Given the description of an element on the screen output the (x, y) to click on. 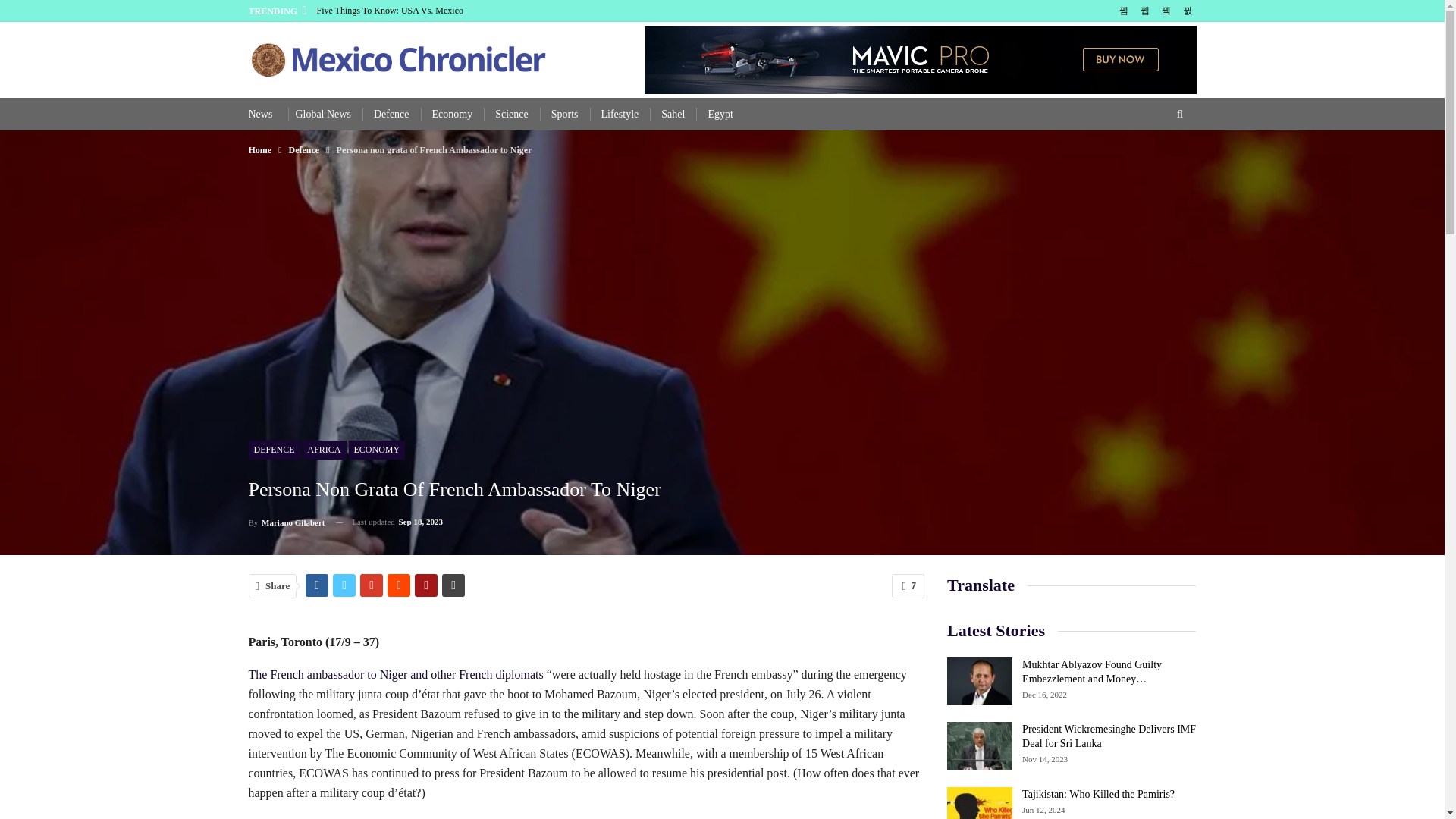
News (260, 113)
President Wickremesinghe Delivers IMF Deal for Sri Lanka (979, 745)
Tajikistan: Who Killed the Pamiris? (979, 803)
Five Things To Know: USA Vs. Mexico (390, 9)
Global News (322, 113)
Browse Author Articles (286, 521)
